Given the description of an element on the screen output the (x, y) to click on. 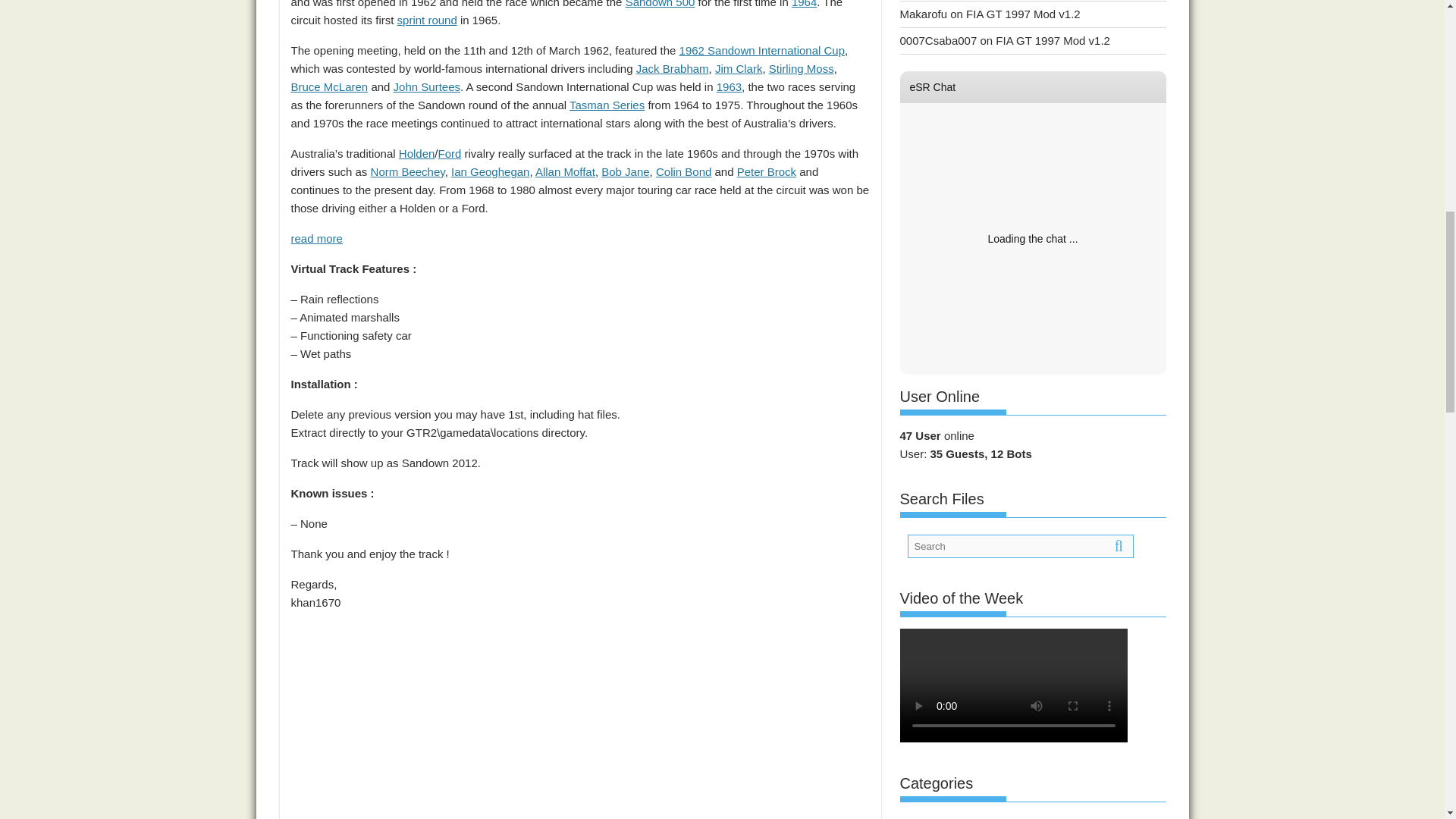
Sandown 500 (660, 4)
Sandown Challenge (427, 19)
1964 Sandown 6 Hour International (804, 4)
